Given the description of an element on the screen output the (x, y) to click on. 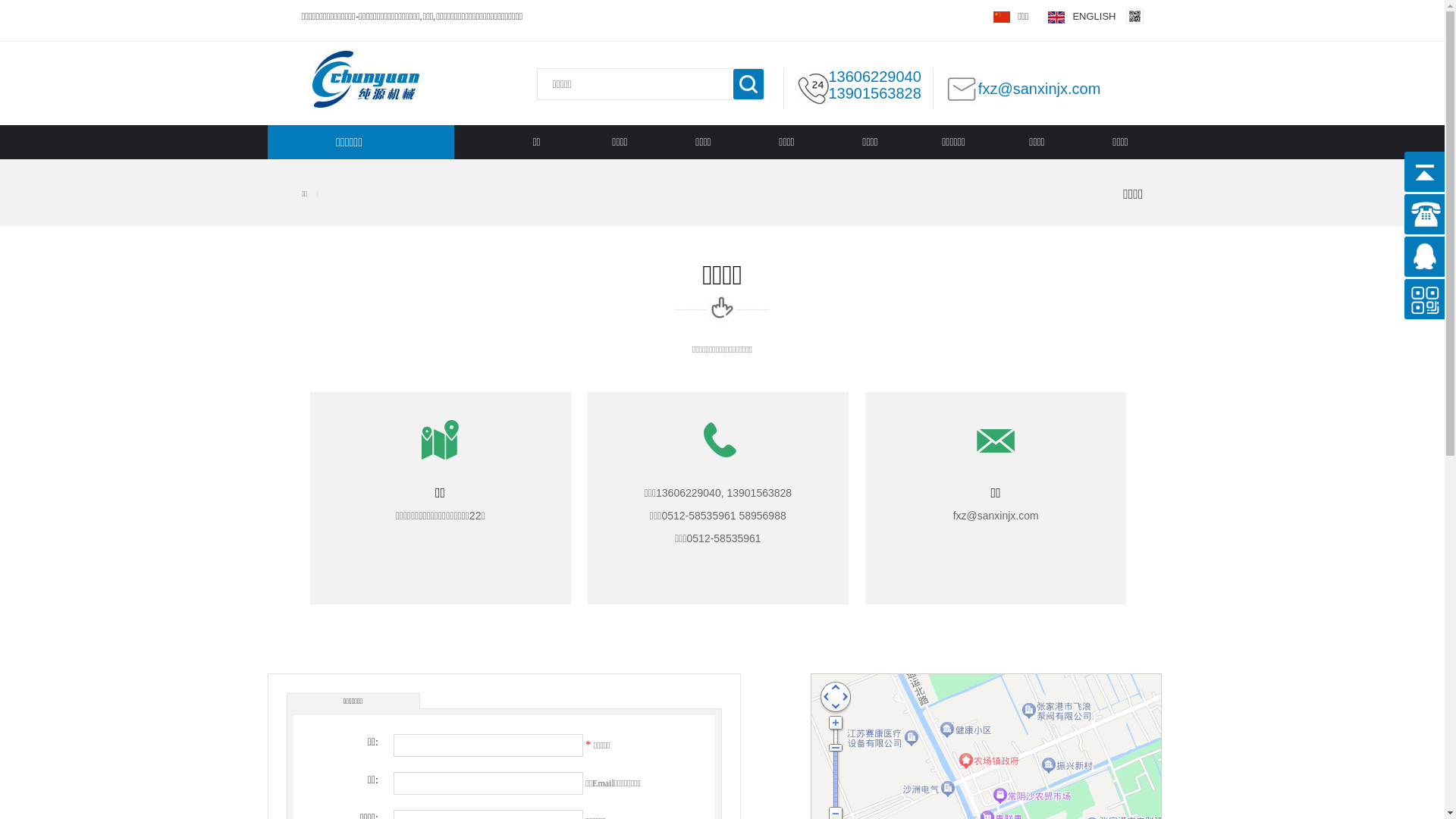
ENGLISH Element type: text (1081, 15)
